Given the description of an element on the screen output the (x, y) to click on. 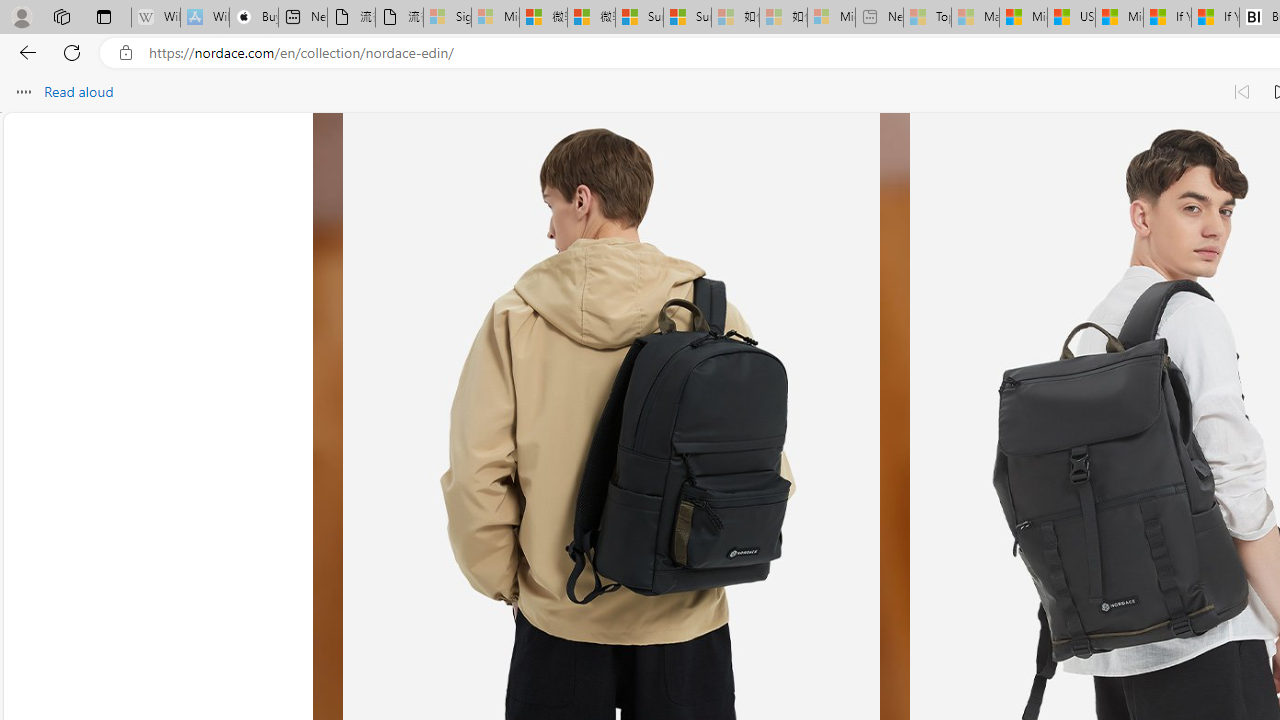
Top Stories - MSN - Sleeping (927, 17)
Tab actions menu (104, 16)
US Heat Deaths Soared To Record High Last Year (1071, 17)
Microsoft Start (1119, 17)
Wikipedia - Sleeping (155, 17)
Microsoft Services Agreement - Sleeping (495, 17)
Microsoft account | Account Checkup - Sleeping (831, 17)
Buy iPad - Apple (253, 17)
New tab - Sleeping (879, 17)
Marine life - MSN - Sleeping (975, 17)
Personal Profile (21, 16)
Class: flickity-button-icon (396, 436)
